Given the description of an element on the screen output the (x, y) to click on. 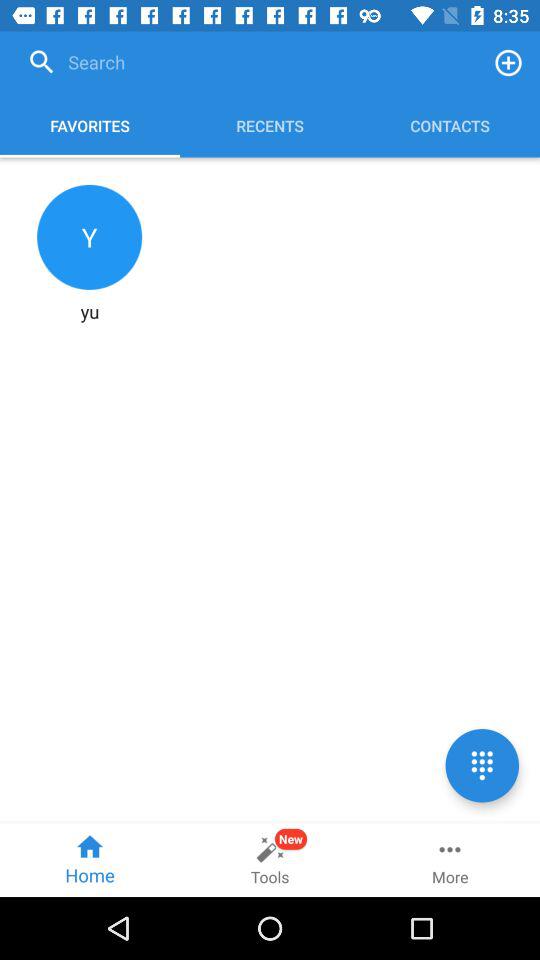
tap the item above favorites item (248, 62)
